Given the description of an element on the screen output the (x, y) to click on. 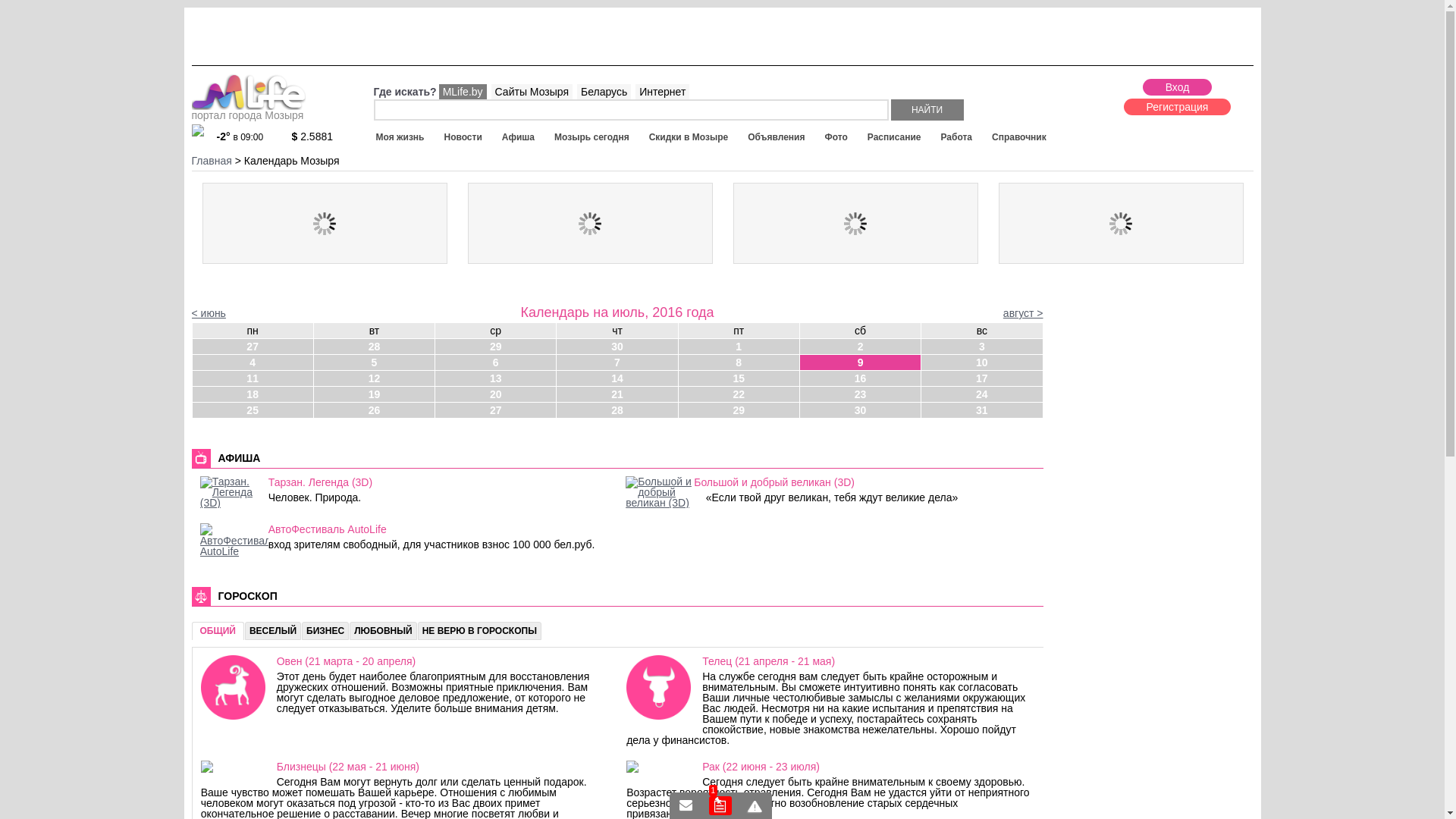
5 Element type: text (373, 362)
28 Element type: text (616, 409)
28 Element type: text (373, 346)
3 Element type: text (981, 346)
2 Element type: text (860, 346)
30 Element type: text (616, 346)
25 Element type: text (252, 409)
10 Element type: text (981, 362)
23 Element type: text (860, 393)
1 Element type: text (738, 346)
7 Element type: text (616, 362)
31 Element type: text (981, 409)
20 Element type: text (495, 393)
13 Element type: text (495, 377)
16 Element type: text (860, 377)
14 Element type: text (616, 377)
$ 2.5881 Element type: text (320, 136)
19 Element type: text (373, 393)
12 Element type: text (373, 377)
15 Element type: text (738, 377)
8 Element type: text (738, 362)
18 Element type: text (252, 393)
4 Element type: text (252, 362)
27 Element type: text (495, 409)
22 Element type: text (738, 393)
21 Element type: text (616, 393)
27 Element type: text (252, 346)
9 Element type: text (860, 362)
29 Element type: text (495, 346)
11 Element type: text (252, 377)
17 Element type: text (981, 377)
30 Element type: text (860, 409)
1 Element type: text (719, 805)
29 Element type: text (738, 409)
24 Element type: text (981, 393)
6 Element type: text (495, 362)
MLife.by Element type: text (462, 91)
26 Element type: text (373, 409)
